Given the description of an element on the screen output the (x, y) to click on. 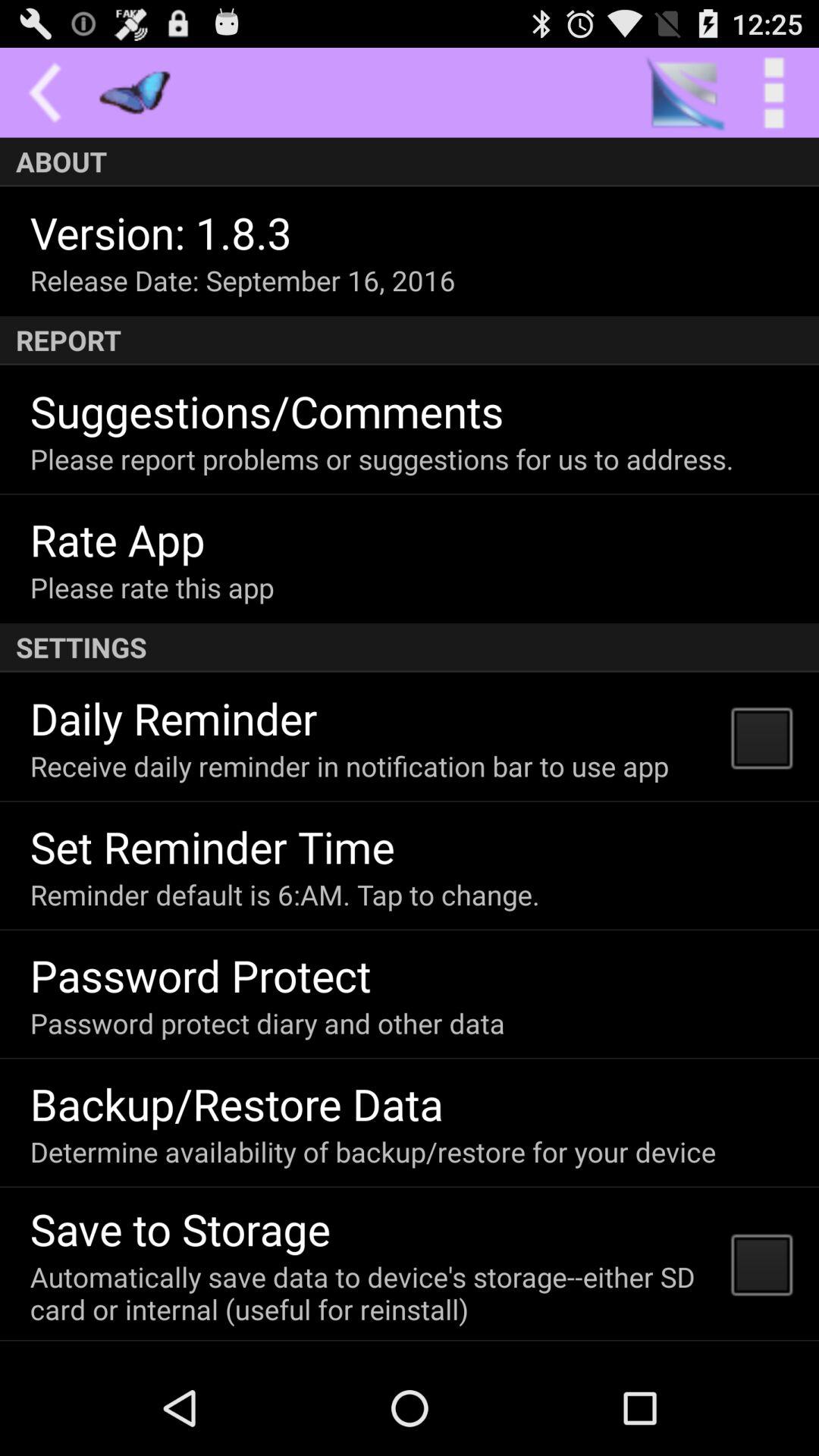
choose the app above about (774, 92)
